Given the description of an element on the screen output the (x, y) to click on. 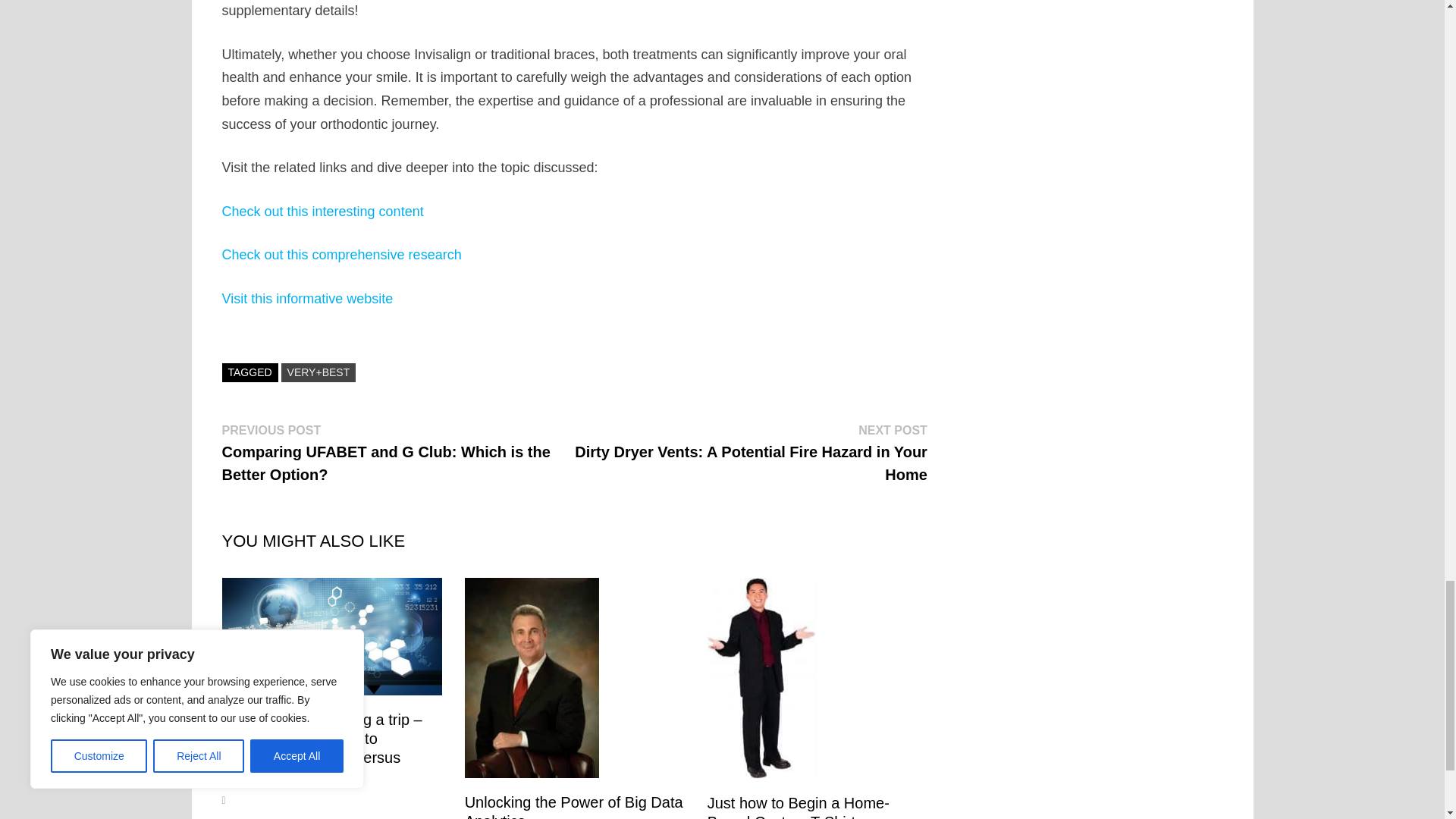
Just how to Begin a Home-Based Custom T-Shirts Business (798, 806)
Check out this comprehensive research (341, 254)
Check out this interesting content (322, 211)
Unlocking the Power of Big Data Analytics (573, 806)
Visit this informative website (307, 298)
